Given the description of an element on the screen output the (x, y) to click on. 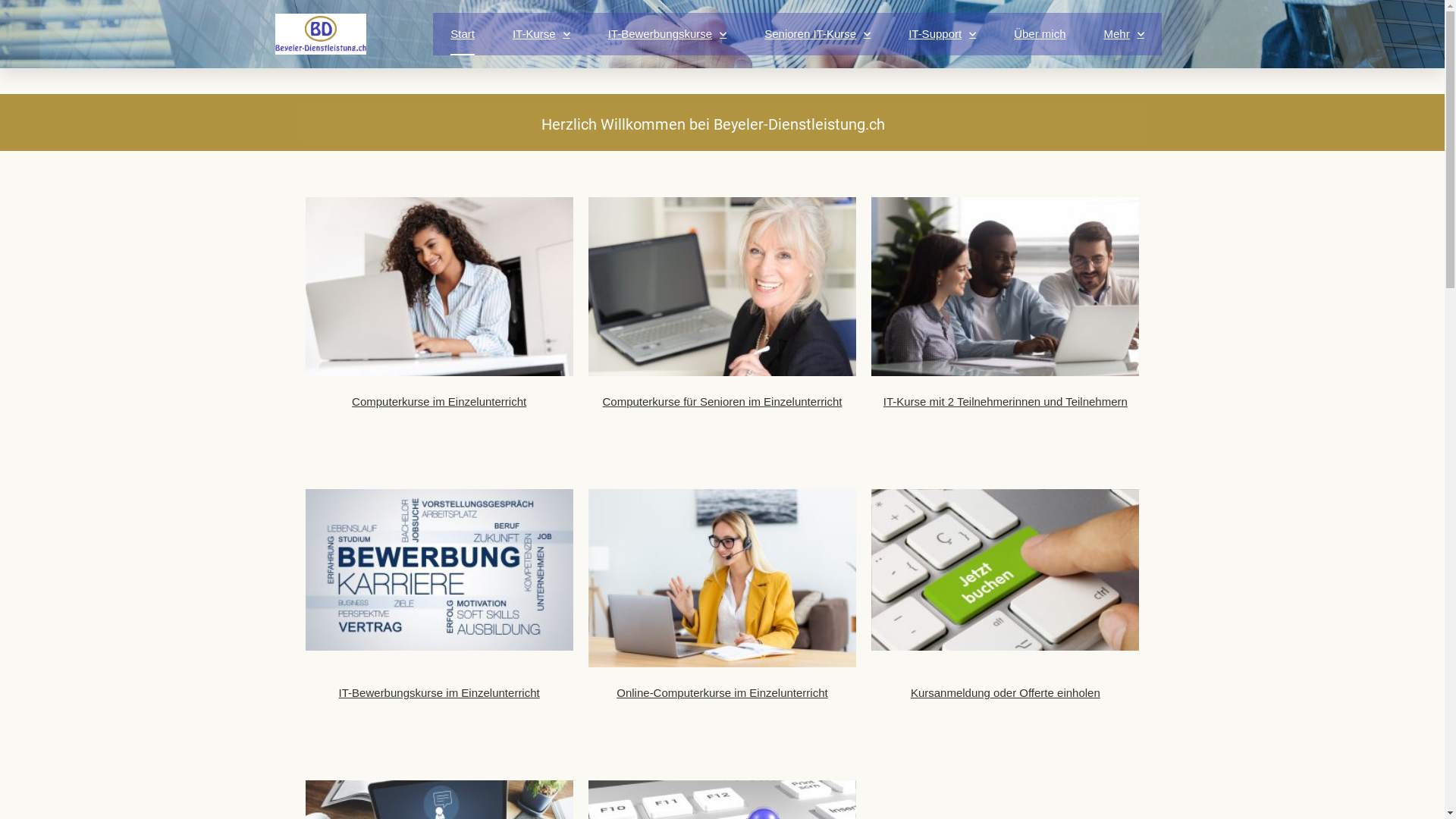
IT-Kurse mit 2 Teilnehmerinnen und Teilnehmern Element type: text (1005, 401)
Computerkurse im Einzelunterricht Element type: text (438, 401)
Start Element type: text (462, 33)
IT-Bewerbungskurse Element type: text (667, 33)
Kursanmeldung oder Offerte einholen Element type: text (1005, 692)
IT-Kurse Element type: text (541, 33)
Mehr Element type: text (1124, 33)
IT-Bewerbungskurse im Einzelunterricht Element type: text (438, 692)
IT-Support Element type: text (941, 33)
Online-Computerkurse im Einzelunterricht Element type: text (721, 692)
Senioren IT-Kurse Element type: text (817, 33)
